Given the description of an element on the screen output the (x, y) to click on. 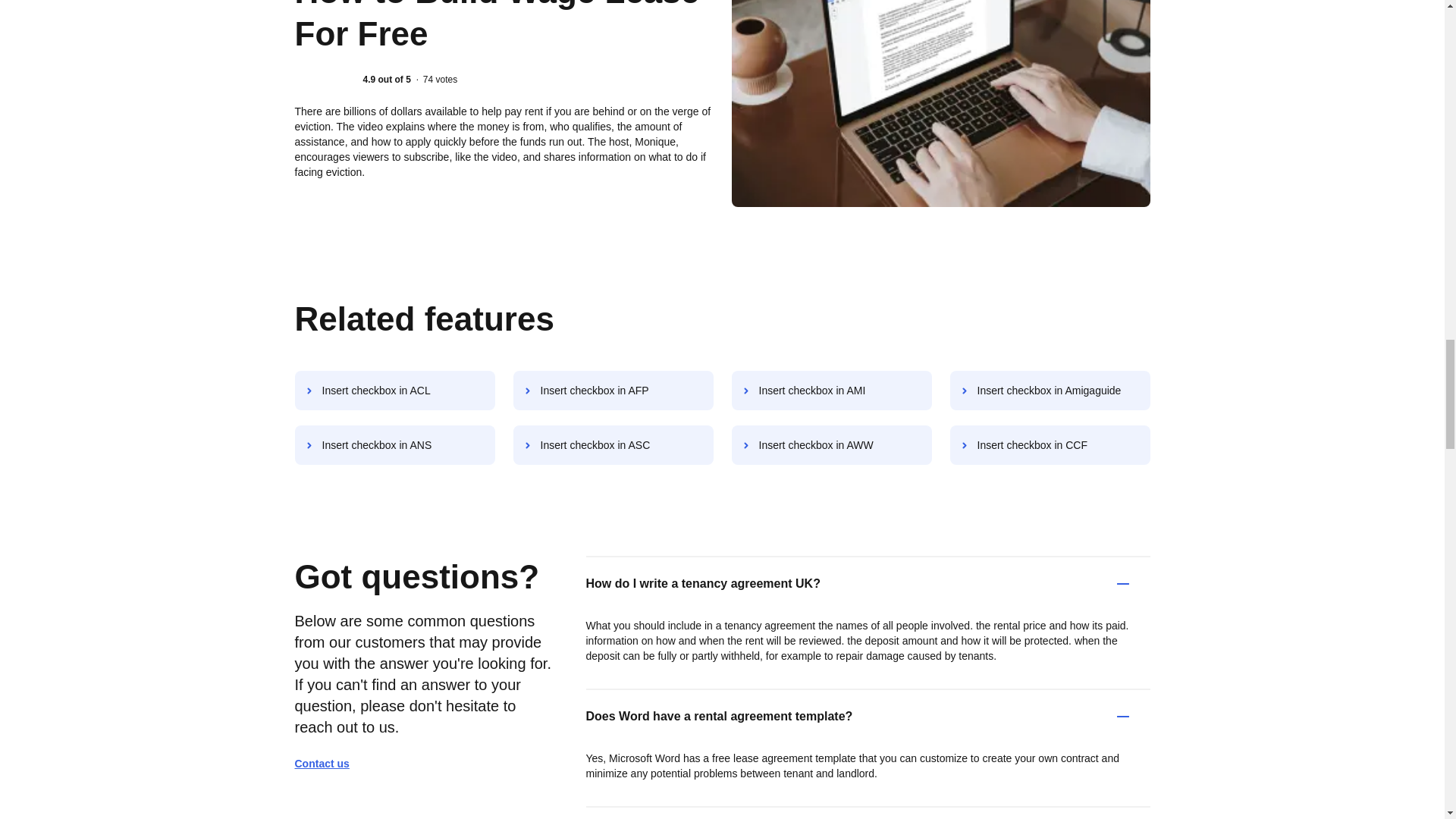
Insert checkbox in AWW (830, 445)
Insert checkbox in Amigaguide (1049, 390)
Insert checkbox in ASC (612, 445)
Insert checkbox in CCF (1049, 445)
Contact us (328, 763)
Insert checkbox in AFP (612, 390)
Insert checkbox in ACL (394, 390)
Insert checkbox in AMI (830, 390)
Insert checkbox in ANS (394, 445)
